Given the description of an element on the screen output the (x, y) to click on. 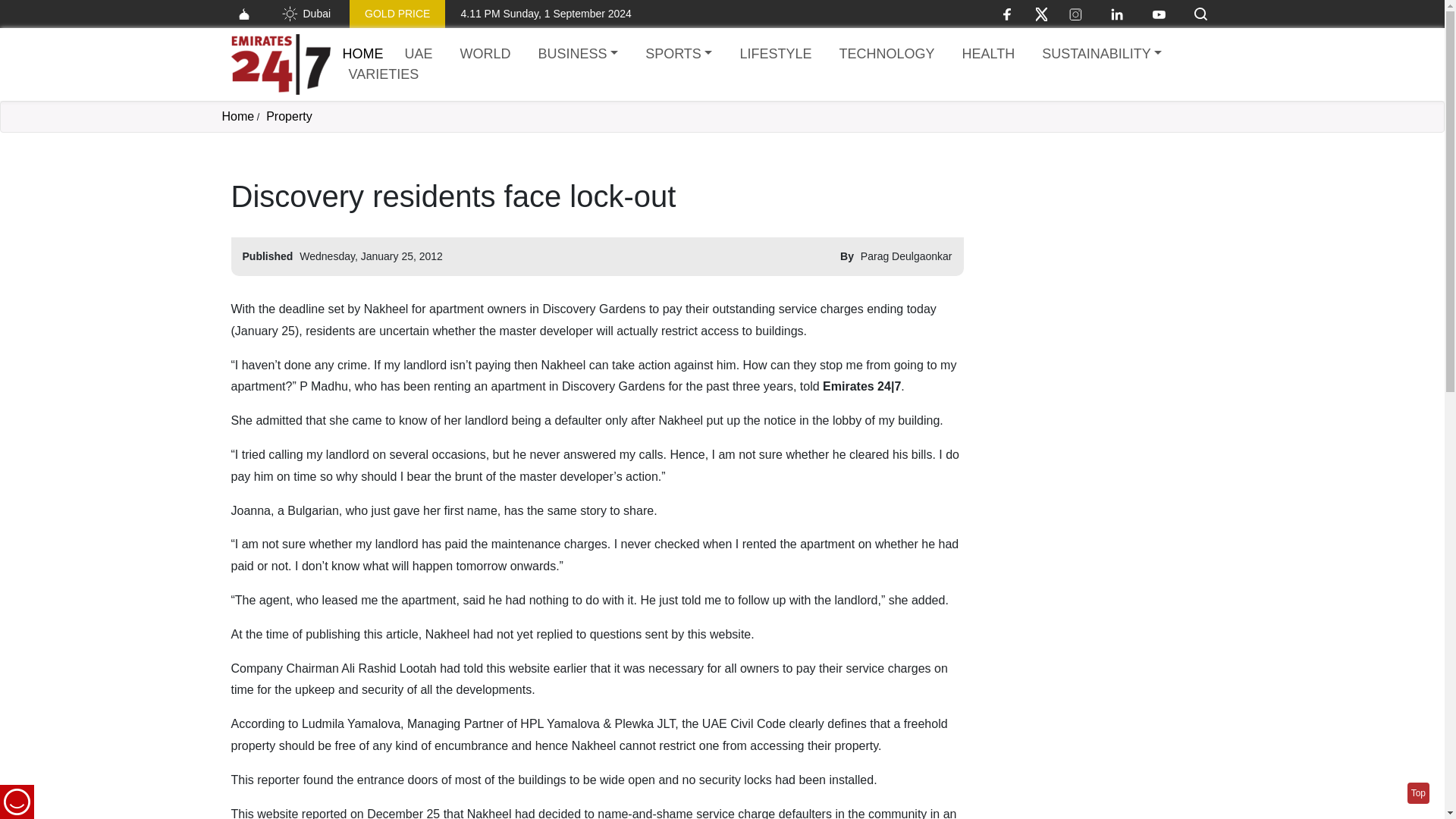
SPORTS (678, 54)
WORLD (485, 54)
Go to top (1418, 792)
LIFESTYLE (774, 54)
VARIETIES (383, 74)
GOLD PRICE (397, 13)
TECHNOLOGY (886, 54)
SUSTAINABILITY (1101, 54)
Dubai (305, 13)
Home (363, 53)
